Given the description of an element on the screen output the (x, y) to click on. 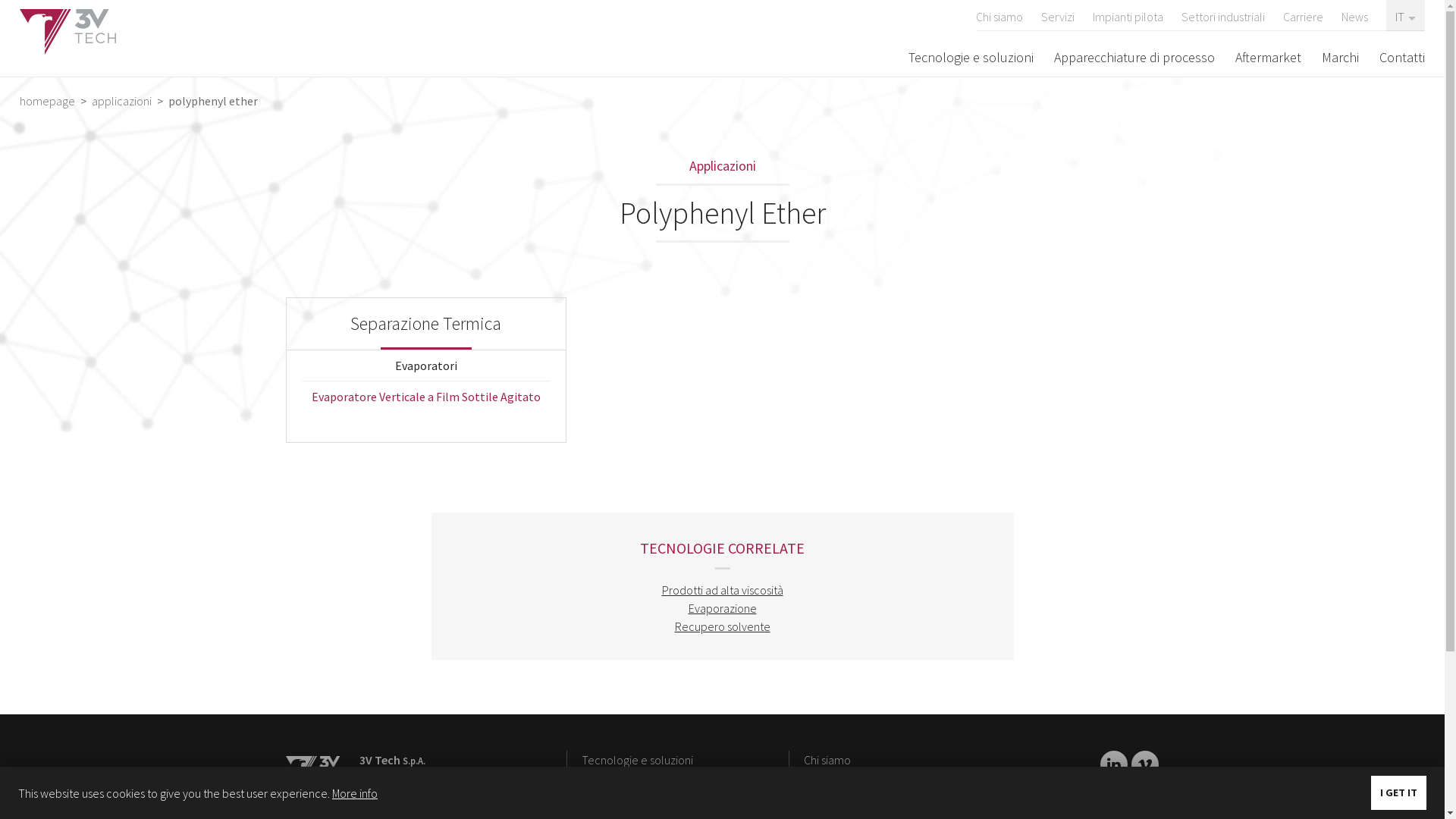
Impianti pilota Element type: text (1127, 15)
LinkedIn Element type: hover (1113, 764)
Evaporatore Verticale a Film Sottile Agitato Element type: text (425, 396)
Tecnologie e soluzioni Element type: text (970, 56)
Evaporazione Element type: text (722, 607)
Contatti Element type: text (1401, 56)
Carriere Element type: text (1303, 15)
Recupero solvente Element type: text (722, 625)
News Element type: text (1354, 15)
Apparecchiature di processo Element type: text (1134, 56)
Aftermarket Element type: text (1268, 56)
Aftermarket Element type: text (832, 777)
Apparecchiature di processo Element type: text (652, 777)
homepage Element type: text (48, 100)
3V Tech Element type: hover (314, 769)
Applicazioni Element type: text (721, 166)
I GET IT Element type: text (1398, 792)
Servizi Element type: text (1057, 15)
Servizi Element type: text (598, 795)
3V Tech Element type: hover (67, 31)
Tecnologie e soluzioni Element type: text (637, 759)
LinkedIn Element type: hover (1144, 764)
Impianti pilota Element type: text (838, 795)
More info Element type: text (354, 792)
Marchi Element type: text (1339, 56)
Chi siamo Element type: text (998, 15)
Settori industriali Element type: text (1222, 15)
applicazioni Element type: text (121, 100)
Chi siamo Element type: text (826, 759)
polyphenyl ether Element type: text (211, 100)
